Given the description of an element on the screen output the (x, y) to click on. 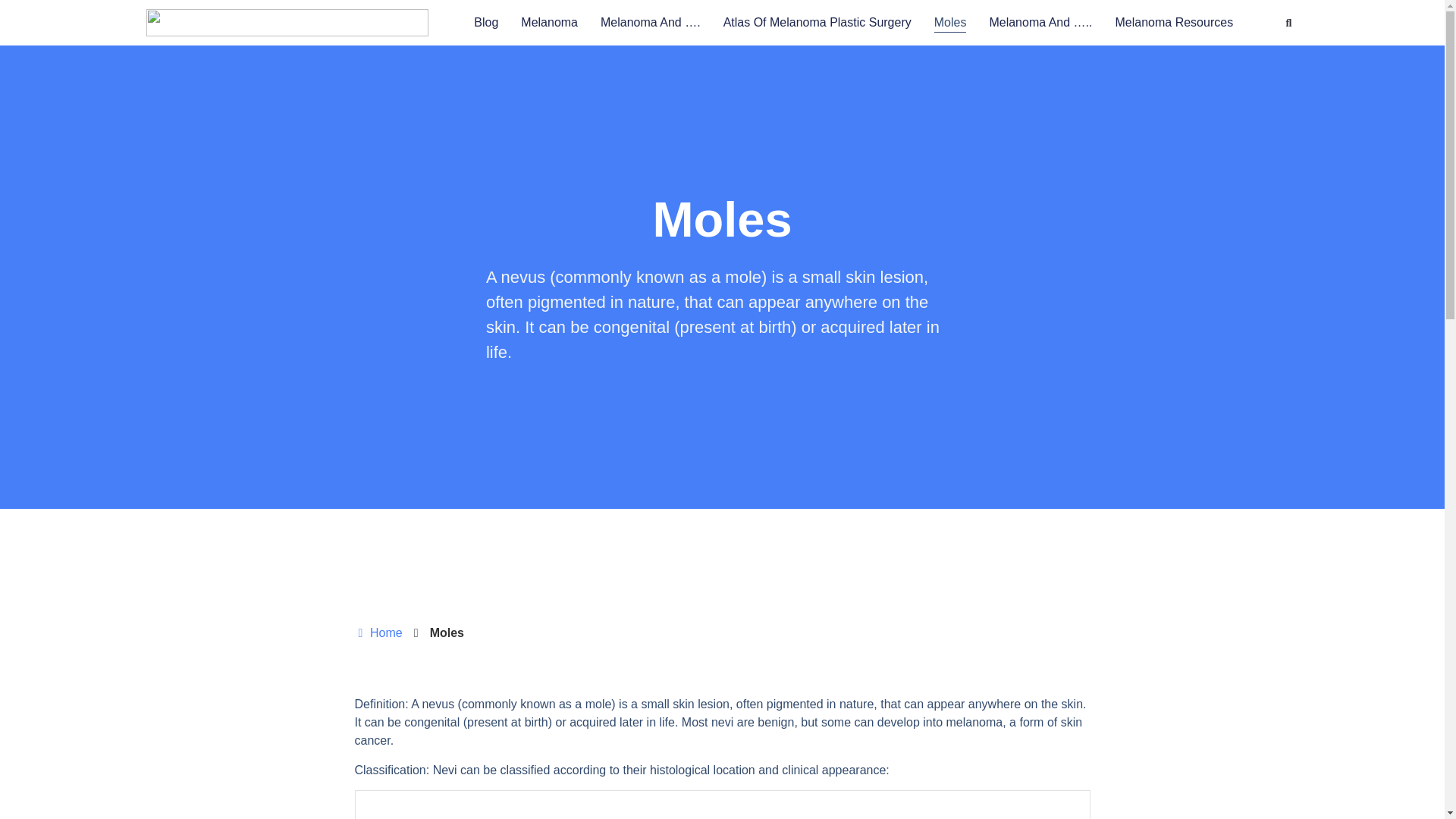
Melanoma (549, 22)
Melanoma (549, 22)
Blog (485, 22)
Blog (485, 22)
